Given the description of an element on the screen output the (x, y) to click on. 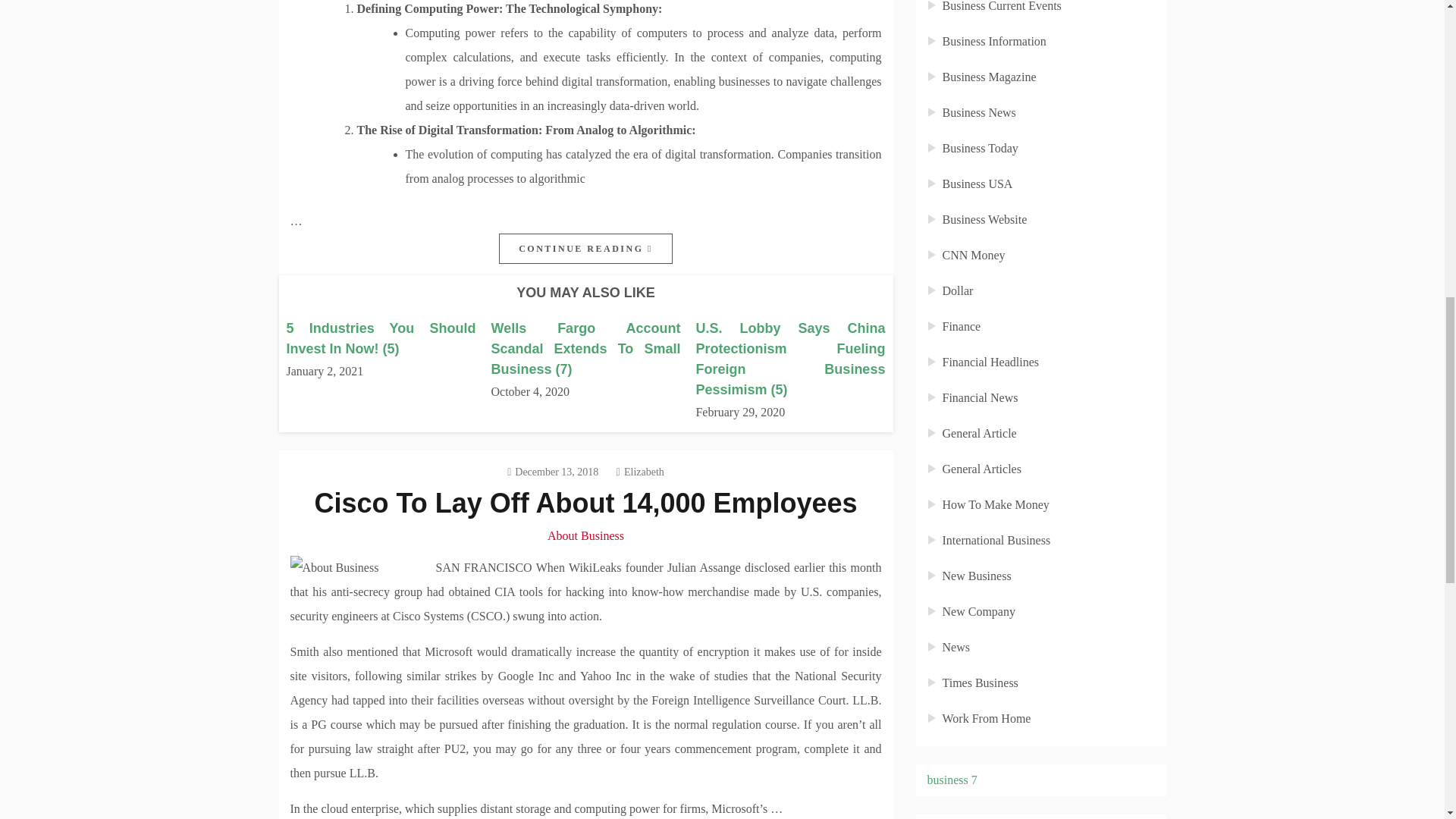
CONTINUE READING (585, 248)
